Given the description of an element on the screen output the (x, y) to click on. 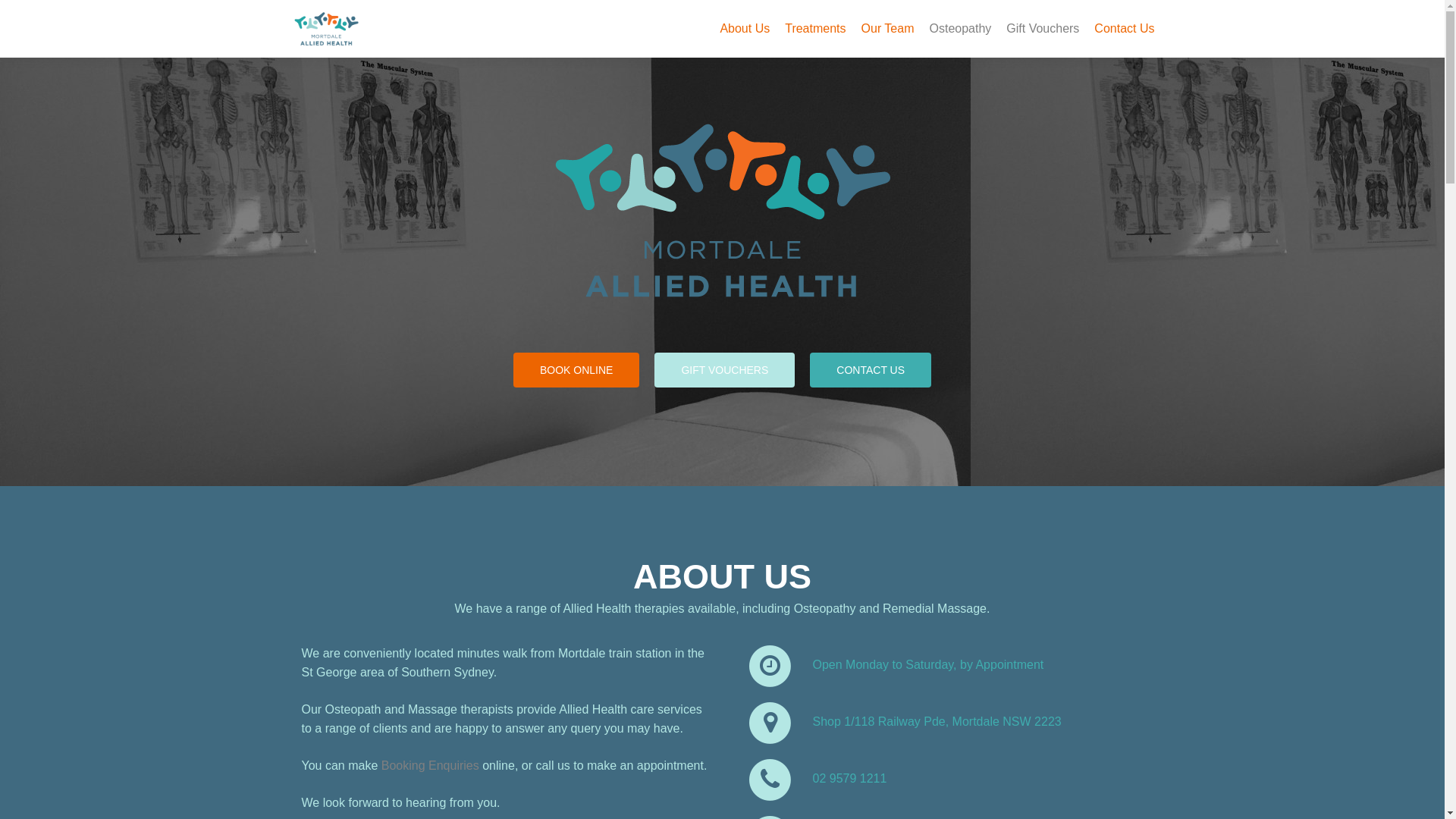
About Us Element type: text (744, 28)
GIFT VOUCHERS Element type: text (724, 369)
Our Team Element type: text (887, 28)
02 9579 1211 Element type: text (938, 779)
BOOK ONLINE Element type: text (576, 369)
Contact Us Element type: text (1124, 28)
Gift Vouchers Element type: text (1042, 28)
CONTACT US Element type: text (870, 369)
Open Monday to Saturday, by Appointment Element type: text (938, 665)
Booking Enquiries Element type: text (430, 765)
Osteopathy Element type: text (959, 28)
Treatments Element type: text (814, 28)
Shop 1/118 Railway Pde, Mortdale NSW 2223 Element type: text (938, 722)
